Given the description of an element on the screen output the (x, y) to click on. 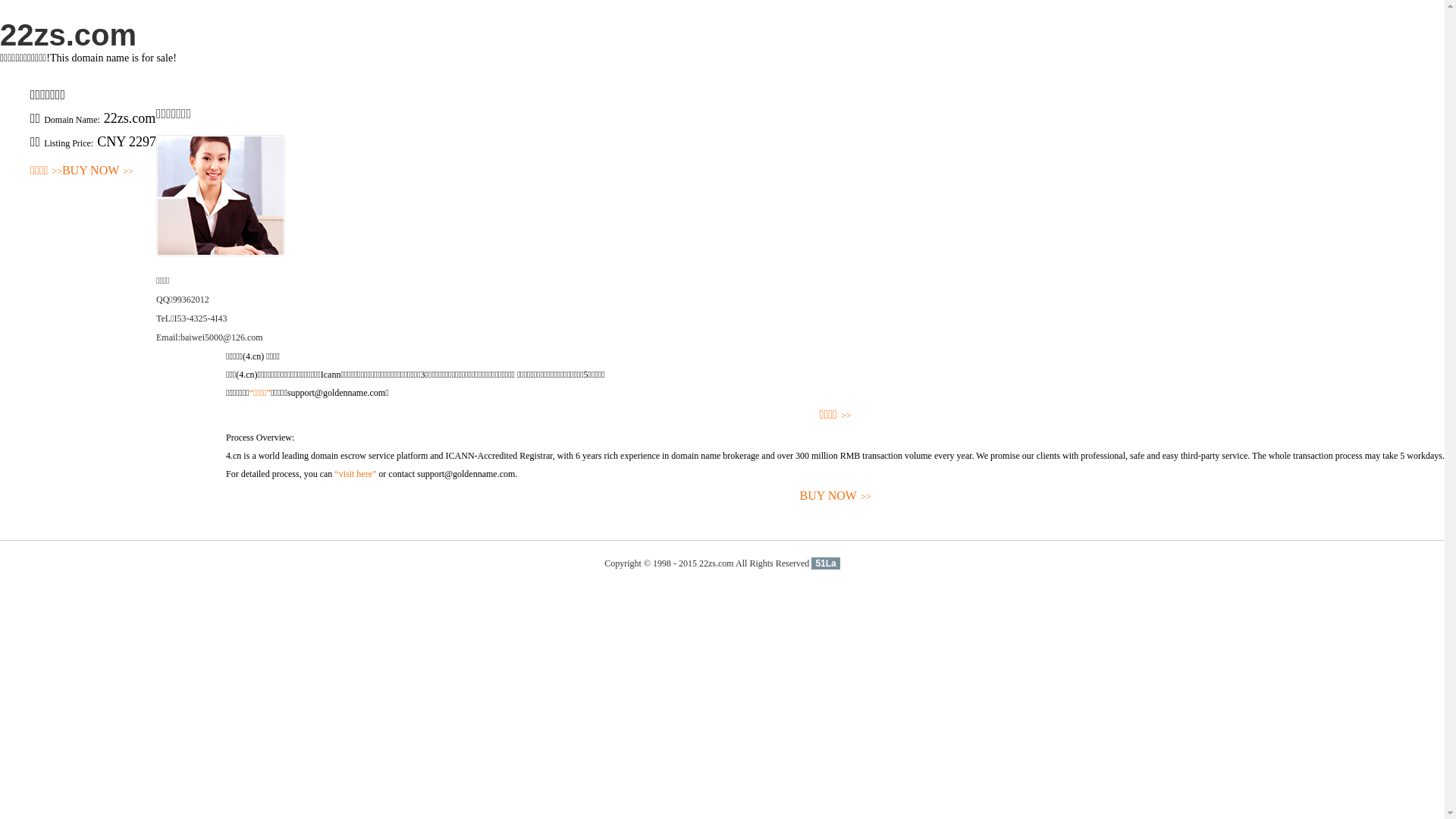
BUY NOW>> Element type: text (834, 496)
BUY NOW>> Element type: text (97, 170)
51La Element type: text (825, 563)
